Given the description of an element on the screen output the (x, y) to click on. 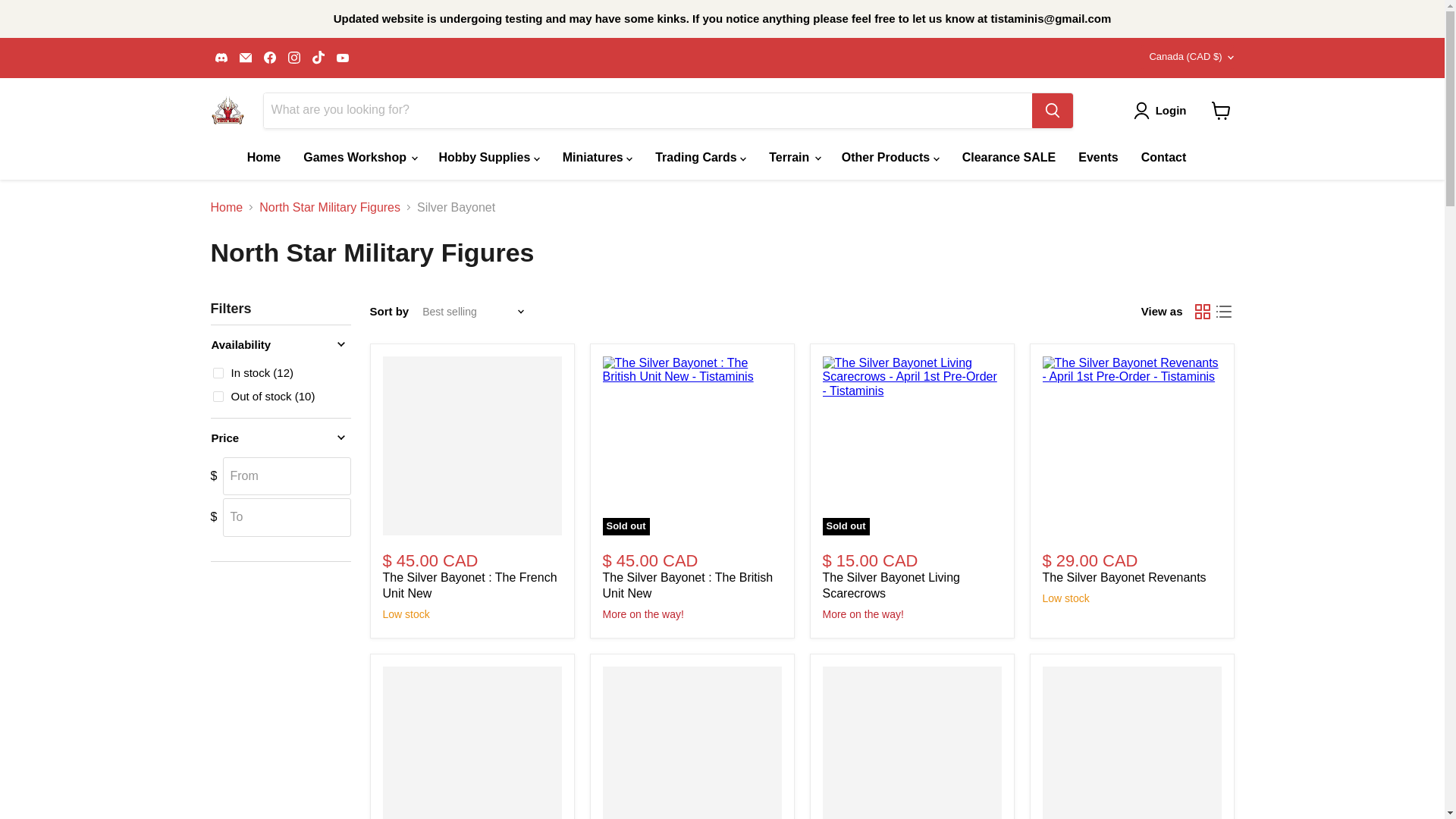
Discord (221, 56)
YouTube (342, 56)
Find us on Discord (221, 56)
Find us on YouTube (342, 56)
Find us on Facebook (270, 56)
Find us on TikTok (318, 56)
Instagram (293, 56)
Email Tistaminis (245, 56)
Email (245, 56)
TikTok (318, 56)
